Given the description of an element on the screen output the (x, y) to click on. 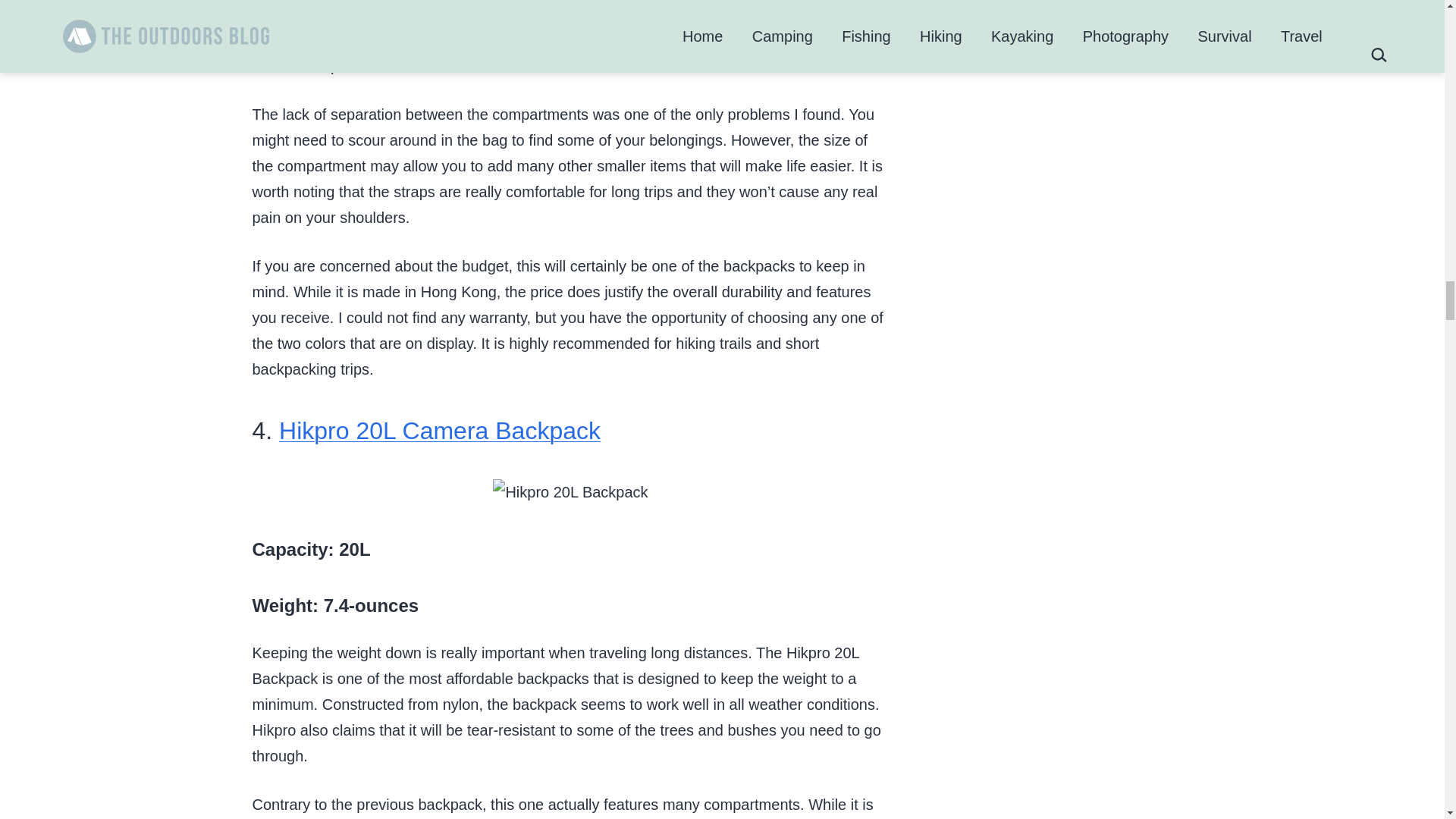
Hikpro 20L Camera Backpack (439, 430)
